Given the description of an element on the screen output the (x, y) to click on. 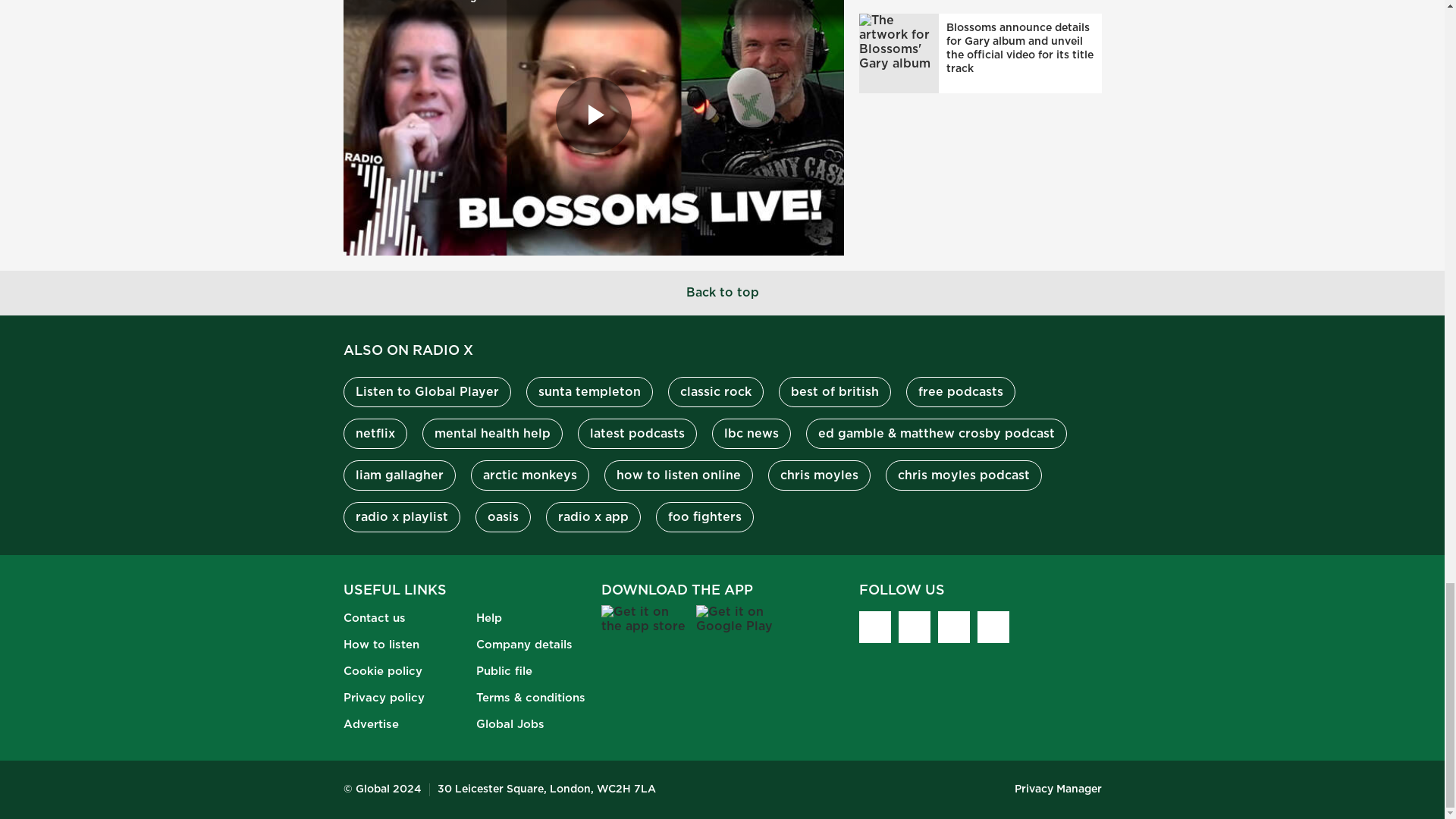
Follow RadioX on Facebook (914, 626)
Follow RadioX on X (874, 626)
Follow RadioX on Youtube (992, 626)
Back to top (721, 292)
Follow RadioX on Instagram (953, 626)
